Given the description of an element on the screen output the (x, y) to click on. 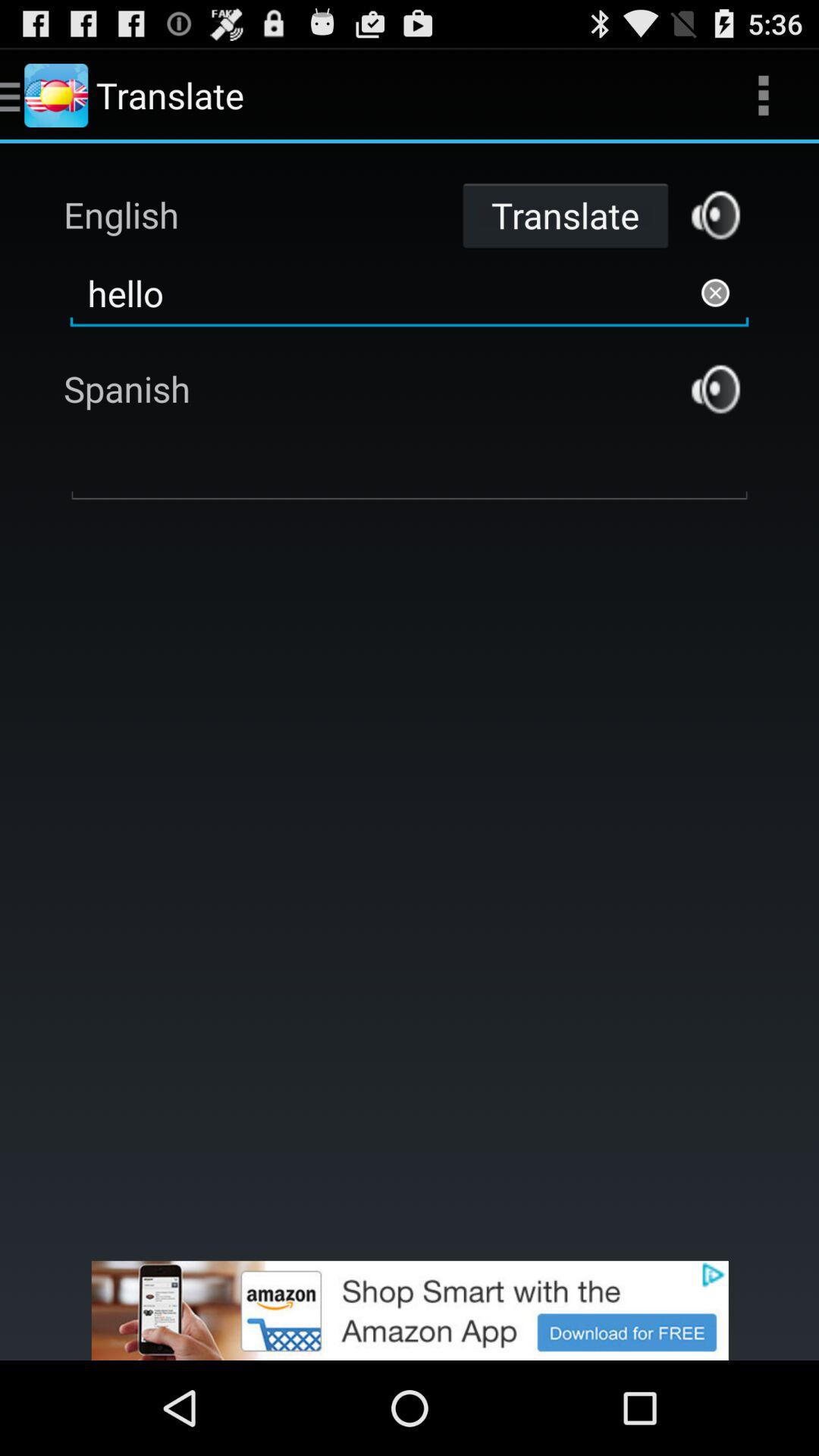
listen to audio (715, 214)
